Given the description of an element on the screen output the (x, y) to click on. 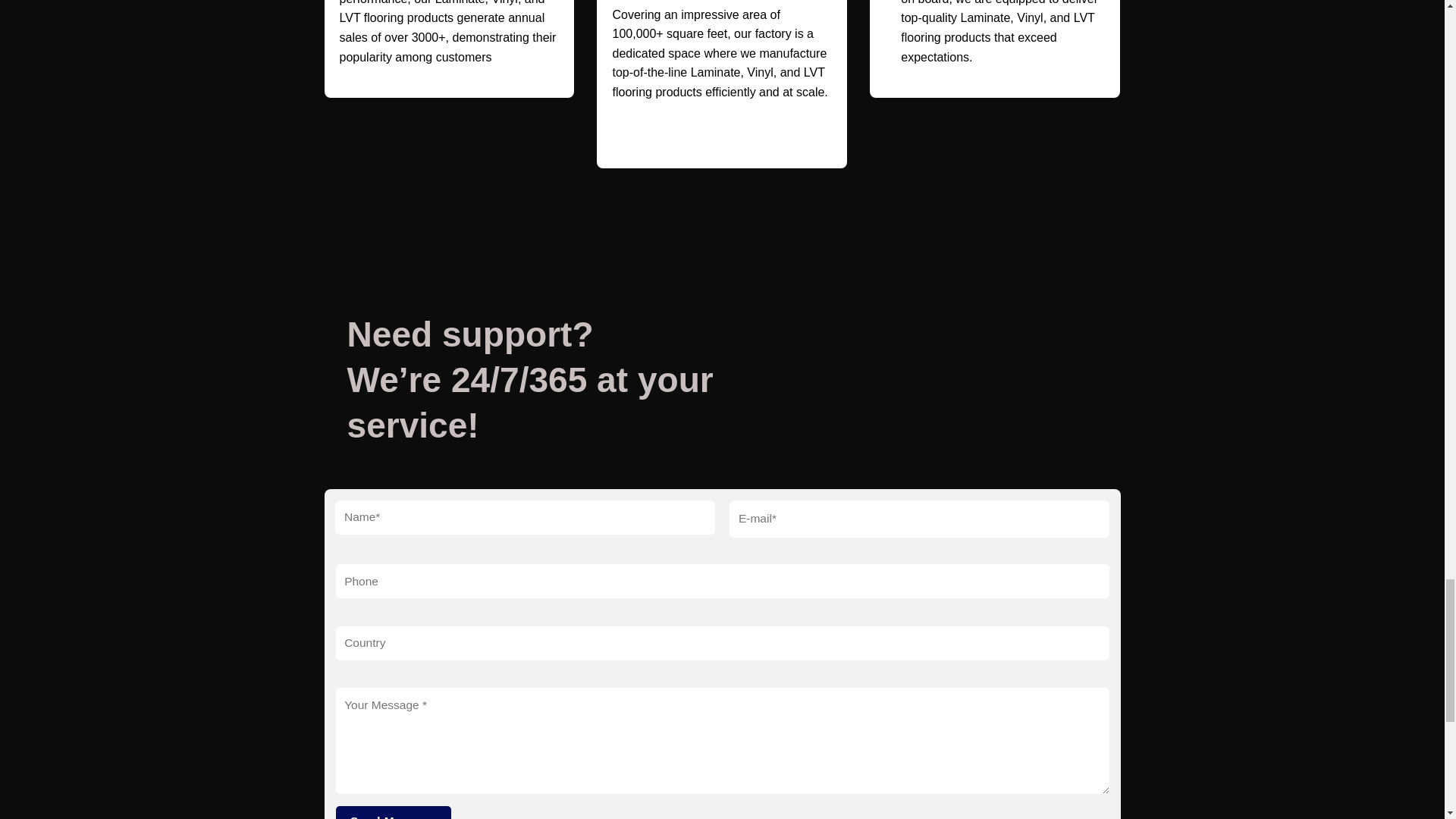
Send Message (392, 812)
